Given the description of an element on the screen output the (x, y) to click on. 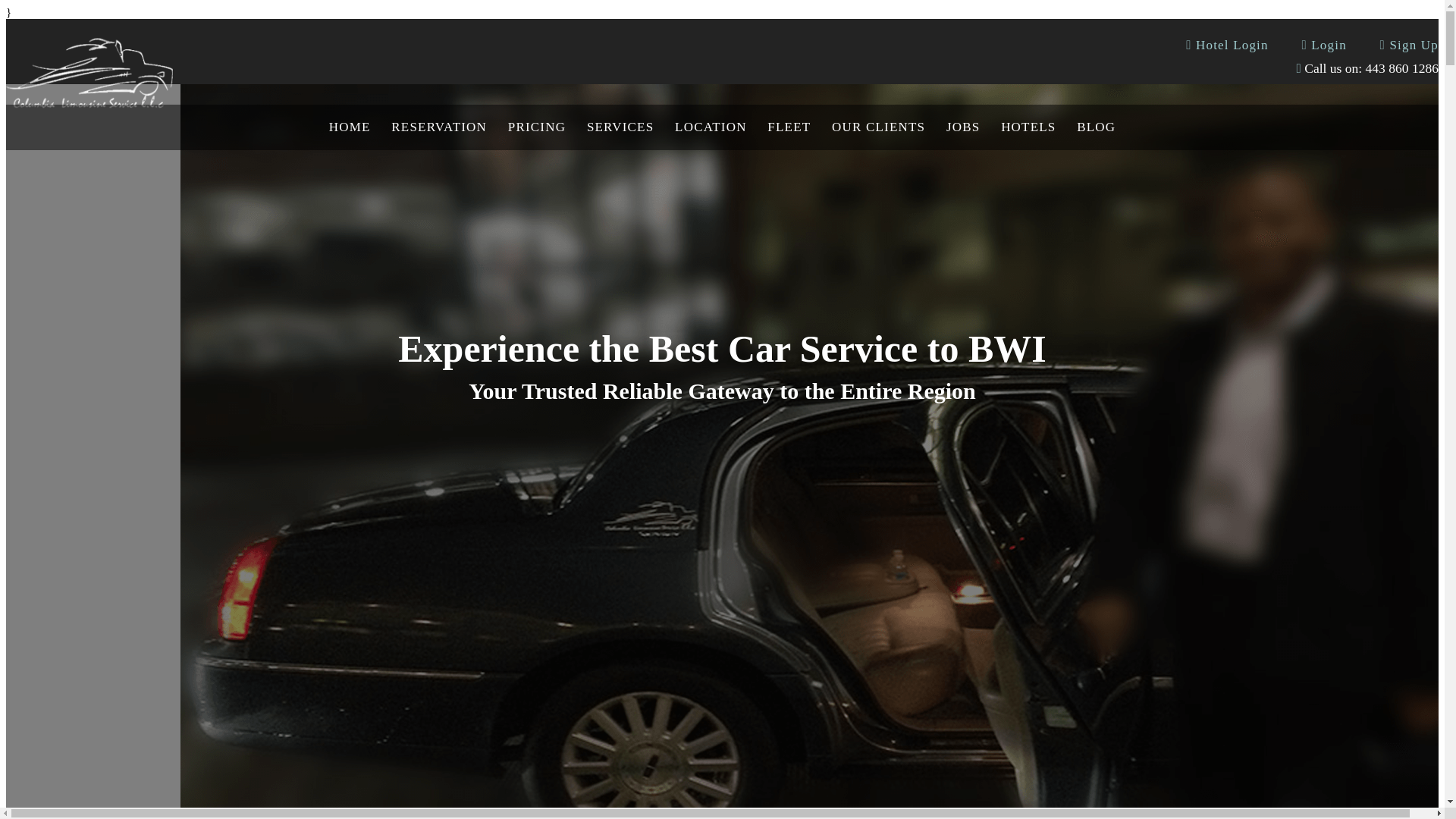
HOME (350, 126)
SERVICES (620, 126)
Call us on: 443 860 1286 (1366, 68)
HOTELS (1027, 126)
Sign Up (1409, 45)
Hotel Login (1227, 45)
JOBS (962, 126)
RESERVATION (438, 126)
BLOG (1095, 126)
LOCATION (710, 126)
PRICING (537, 126)
OUR CLIENTS (878, 126)
Login (1323, 45)
FLEET (788, 126)
